Given the description of an element on the screen output the (x, y) to click on. 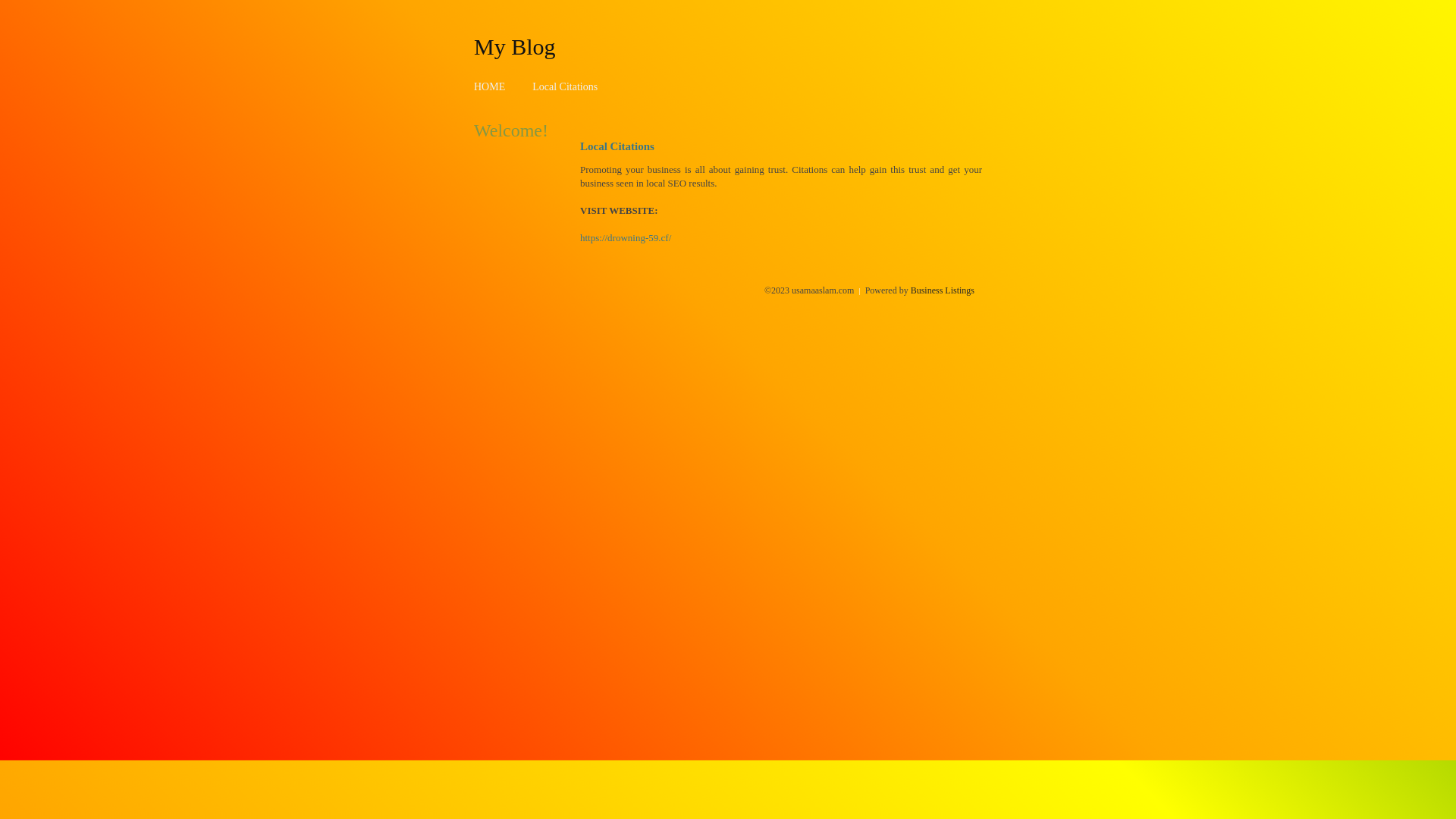
https://drowning-59.cf/ Element type: text (625, 237)
My Blog Element type: text (514, 46)
Local Citations Element type: text (564, 86)
Business Listings Element type: text (942, 290)
HOME Element type: text (489, 86)
